Given the description of an element on the screen output the (x, y) to click on. 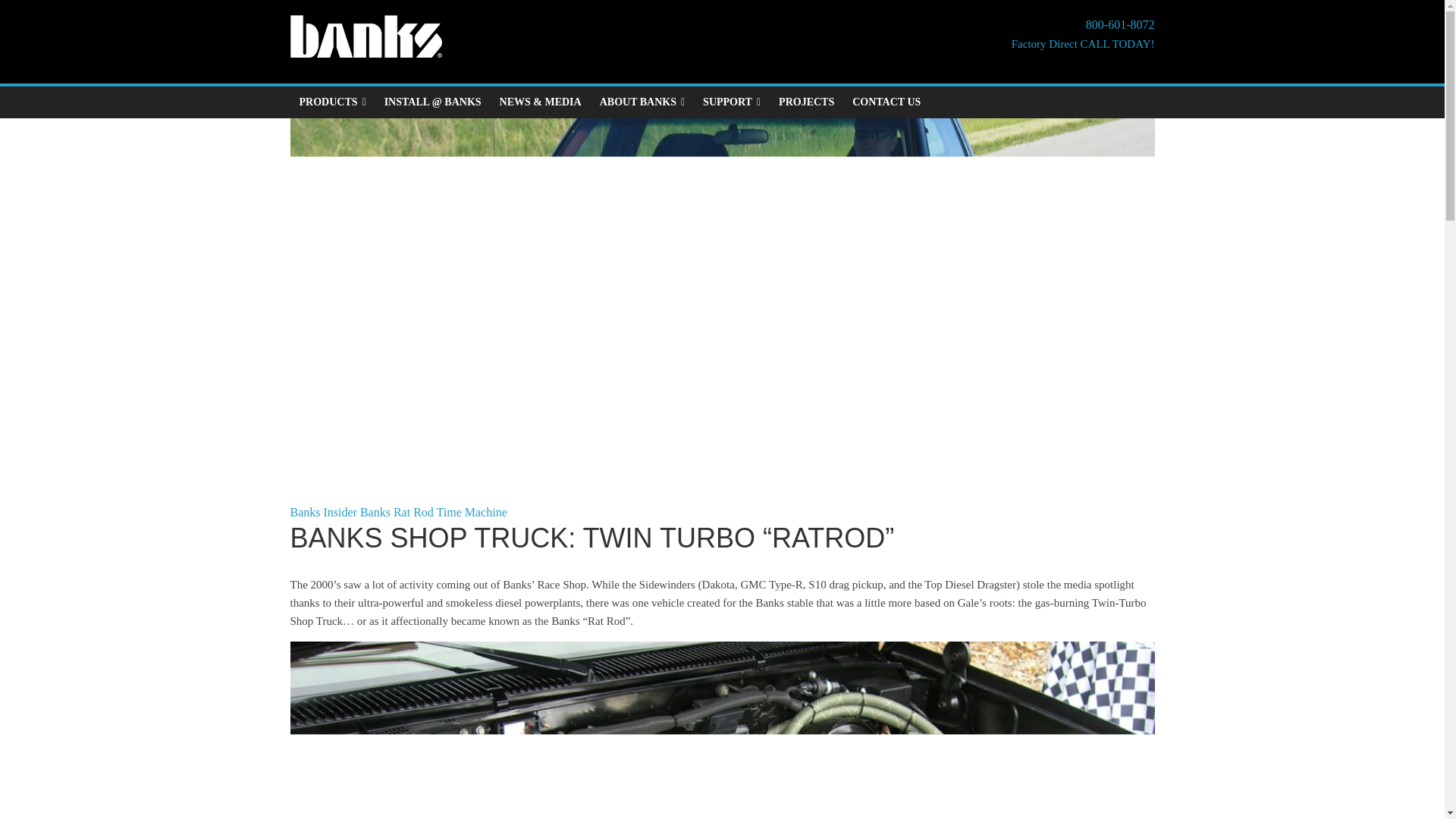
CONTACT US (1082, 35)
ABOUT BANKS (886, 101)
PROJECTS (642, 101)
PRODUCTS (806, 101)
SUPPORT (331, 101)
call us (732, 101)
